Given the description of an element on the screen output the (x, y) to click on. 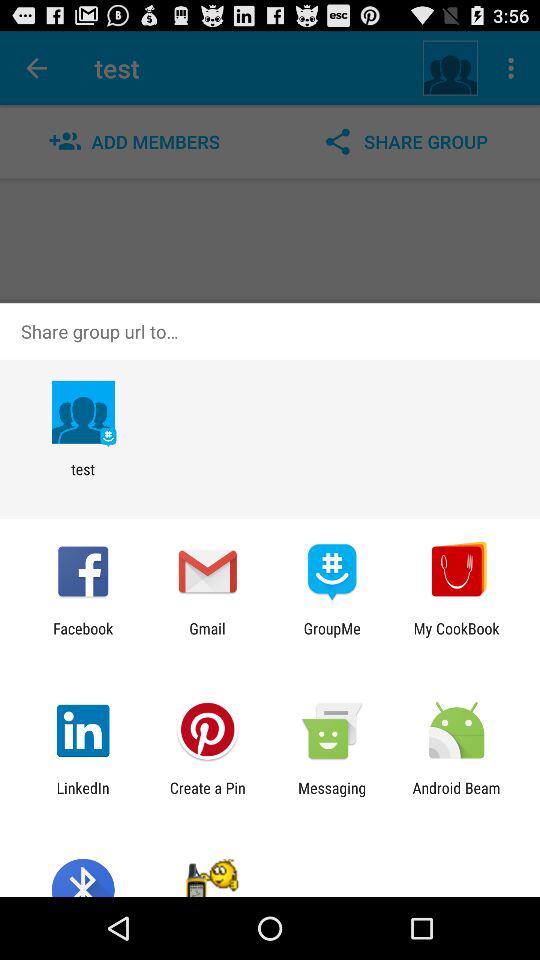
choose item to the right of facebook icon (207, 637)
